Given the description of an element on the screen output the (x, y) to click on. 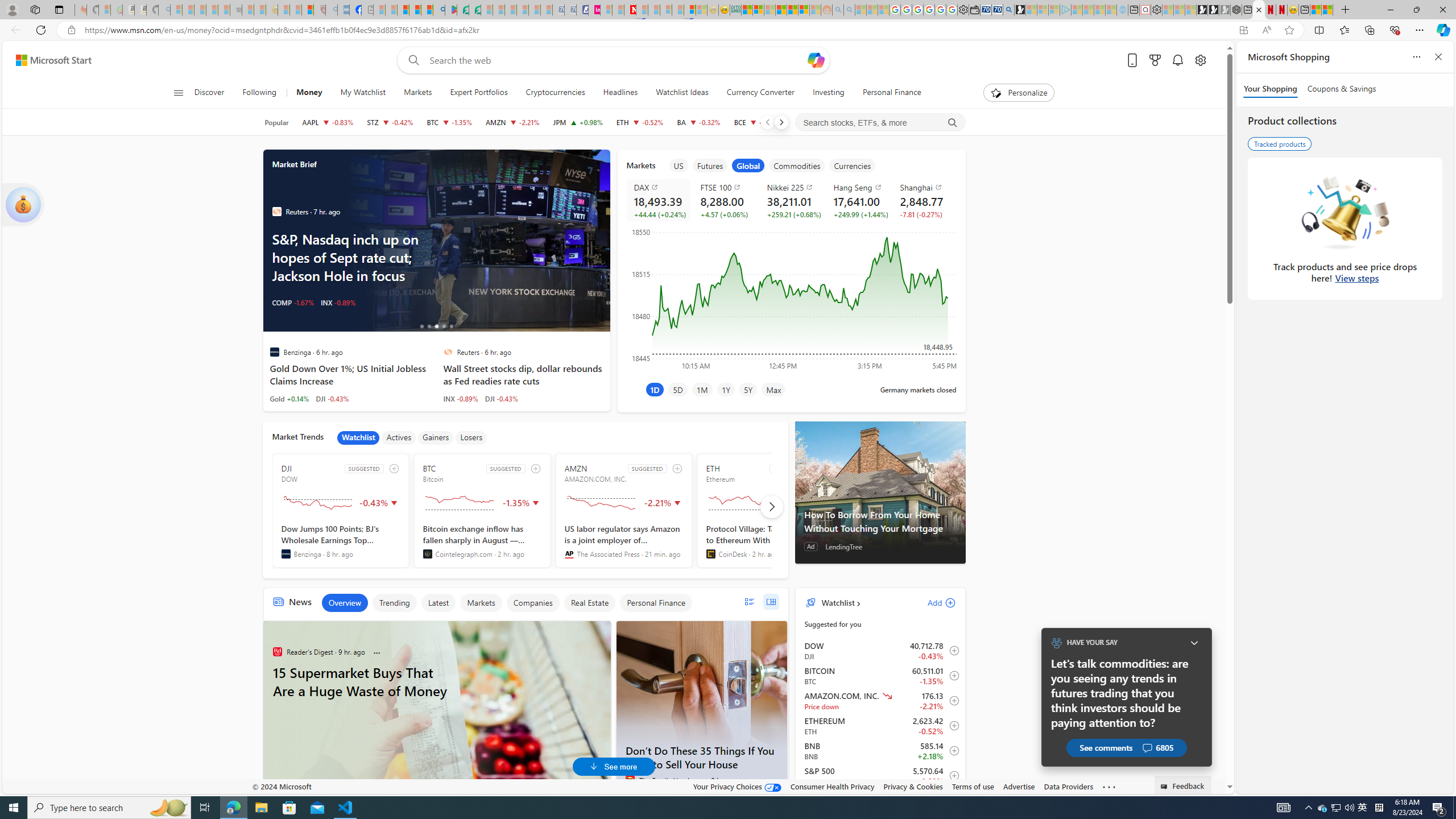
Hang Seng (859, 187)
grid layout (770, 601)
Robert H. Shmerling, MD - Harvard Health - Sleeping (319, 9)
Add to Watchlist (950, 775)
My Watchlist (362, 92)
Feedback (1182, 784)
Investing (828, 92)
Actives (398, 437)
Advertise (1019, 786)
Class: feedback_link_icon-DS-EntryPoint1-1 (1165, 786)
